Given the description of an element on the screen output the (x, y) to click on. 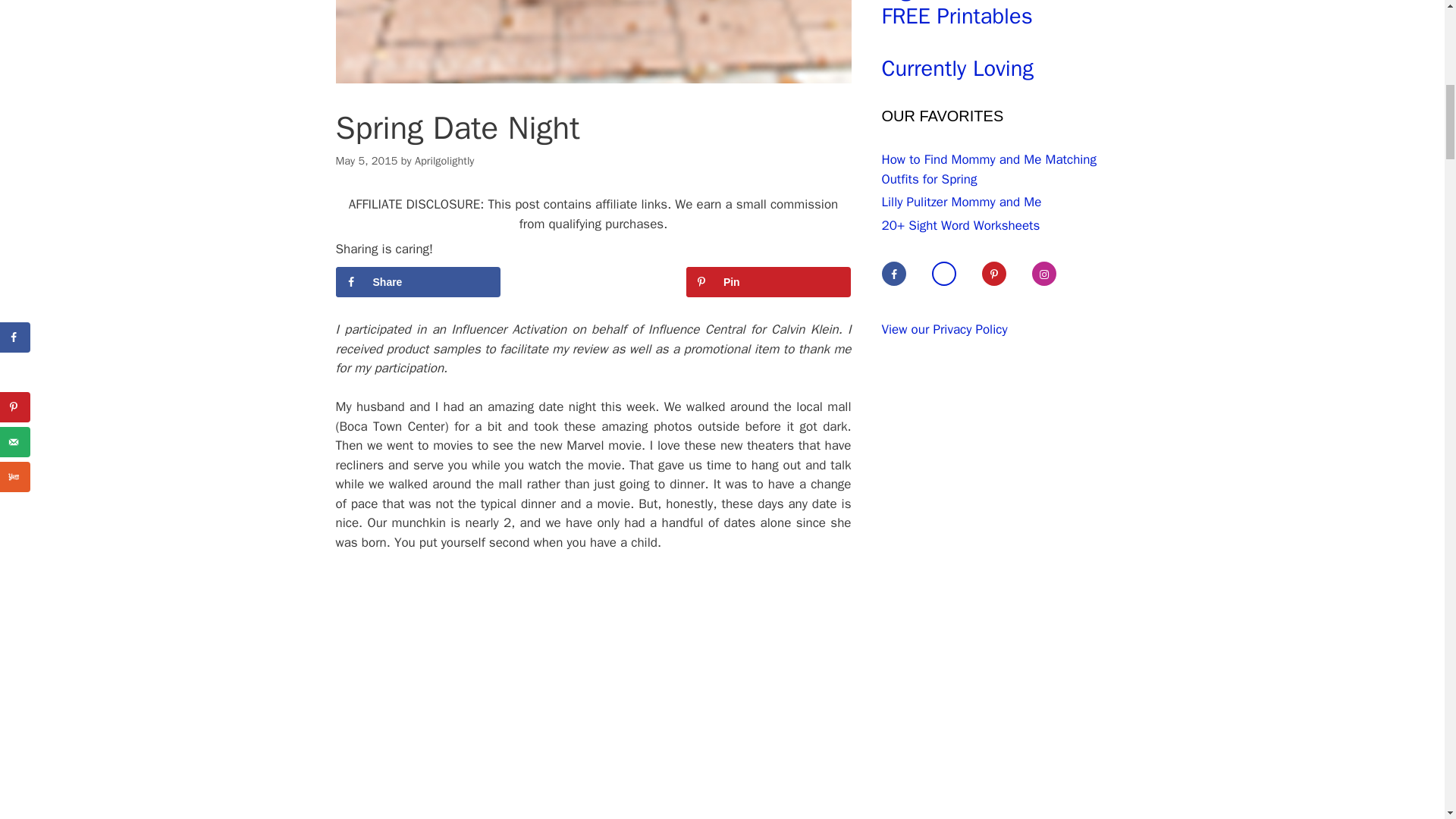
Aprilgolightly (444, 160)
Sight Word Worksheets FREE Printables (994, 15)
Follow on X (953, 273)
View all posts by Aprilgolightly (444, 160)
Follow on Pinterest (1003, 273)
Currently Loving (956, 69)
Share on X (594, 281)
Follow on Facebook (903, 273)
Save to Pinterest (768, 281)
Share on Facebook (417, 281)
